Given the description of an element on the screen output the (x, y) to click on. 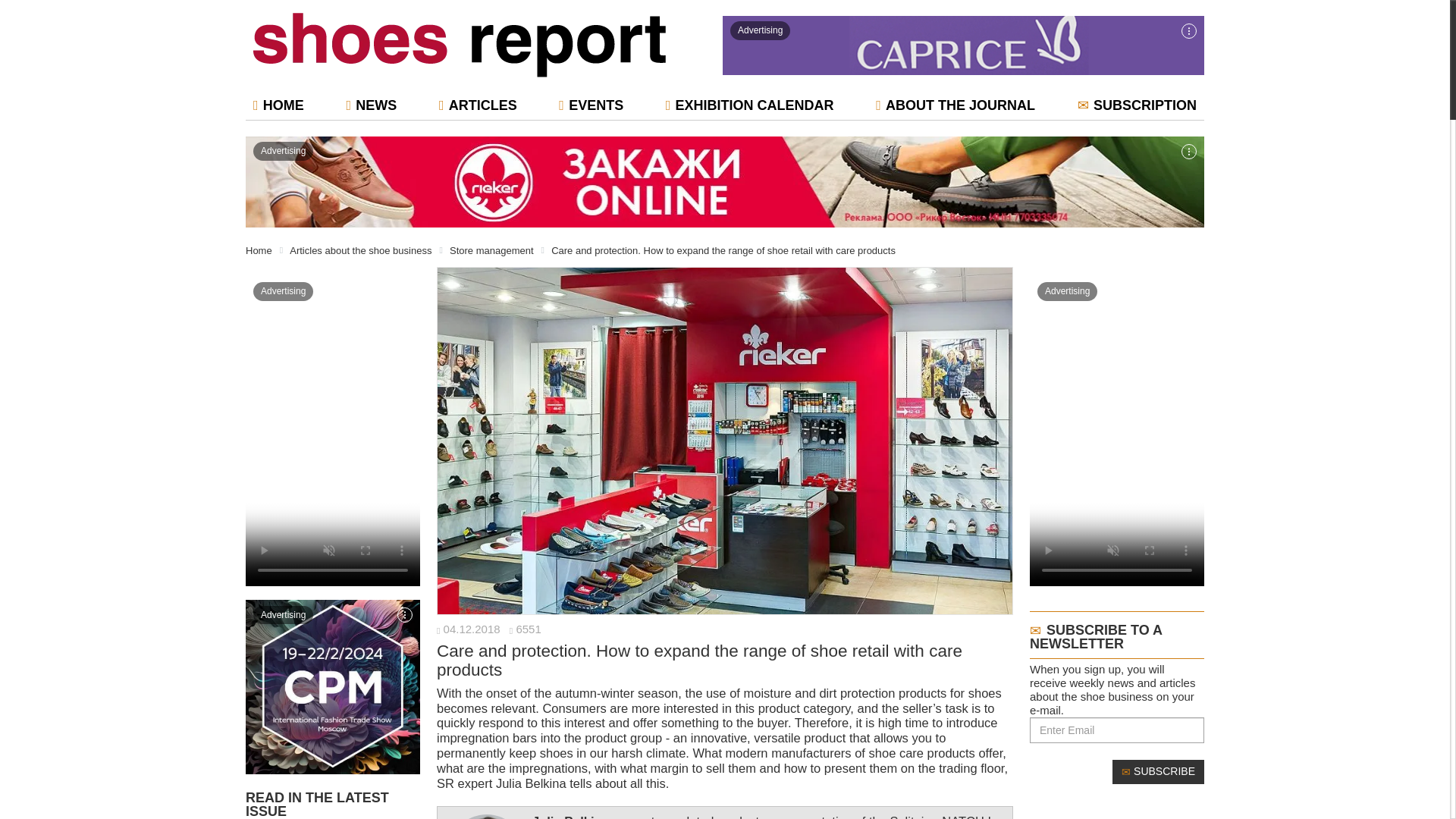
ARTICLES (477, 104)
HOME (278, 104)
SUBSCRIPTION (1137, 104)
Store management (491, 249)
Articles about the shoe business (359, 249)
ShoesReport Magazine - Everything about the shoe business (459, 44)
Store management (491, 249)
Home (259, 249)
EXHIBITION CALENDAR (749, 104)
